Given the description of an element on the screen output the (x, y) to click on. 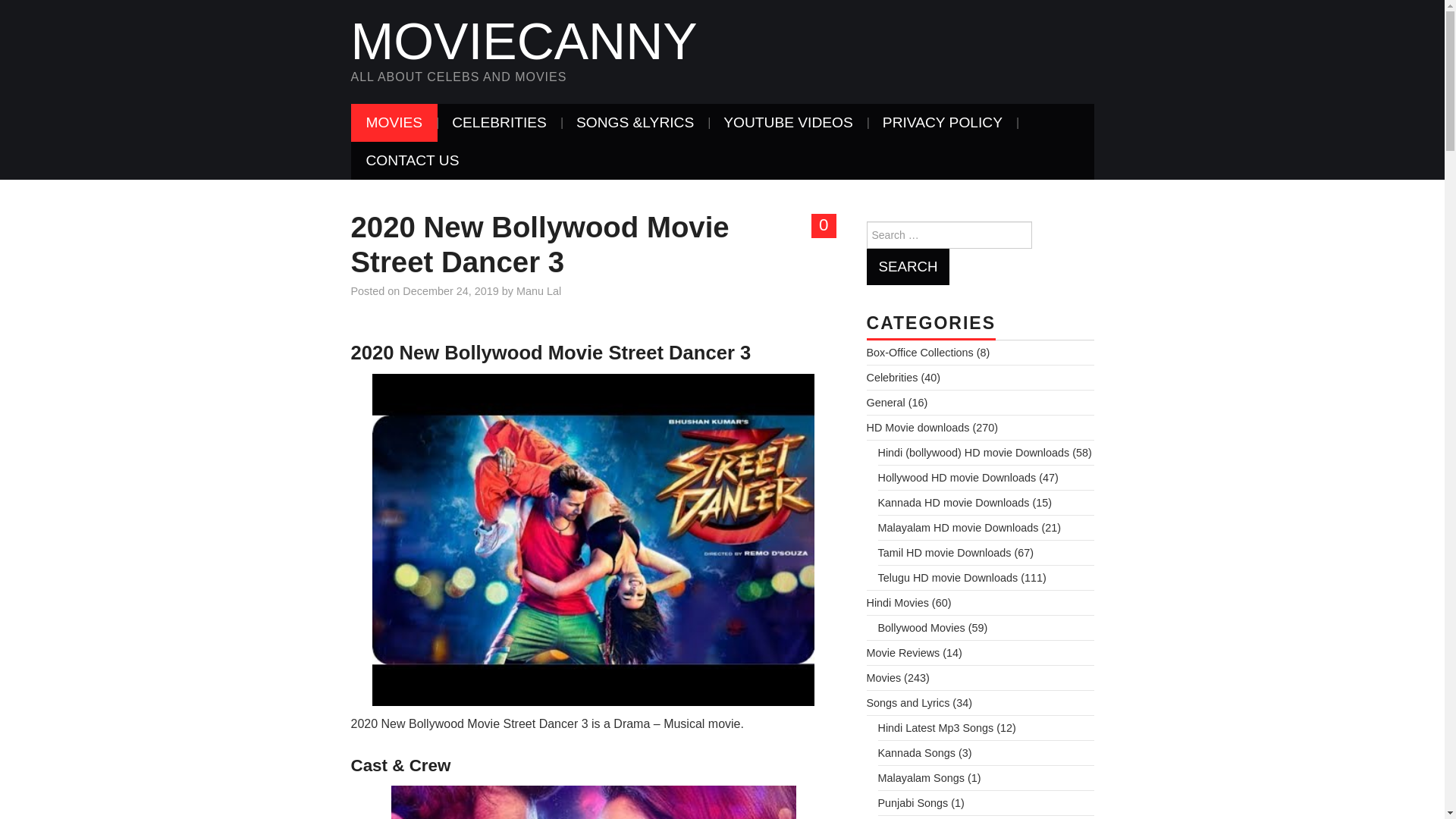
Hollywood HD movie Downloads (956, 477)
CONTACT US (412, 160)
Moviecanny (523, 40)
MOVIES (394, 122)
Hindi Latest Mp3 Songs (935, 727)
PRIVACY POLICY (942, 122)
Celebrities (891, 377)
Kannada Songs (916, 752)
Tamil HD movie Downloads (944, 552)
Malayalam Songs (920, 777)
